Given the description of an element on the screen output the (x, y) to click on. 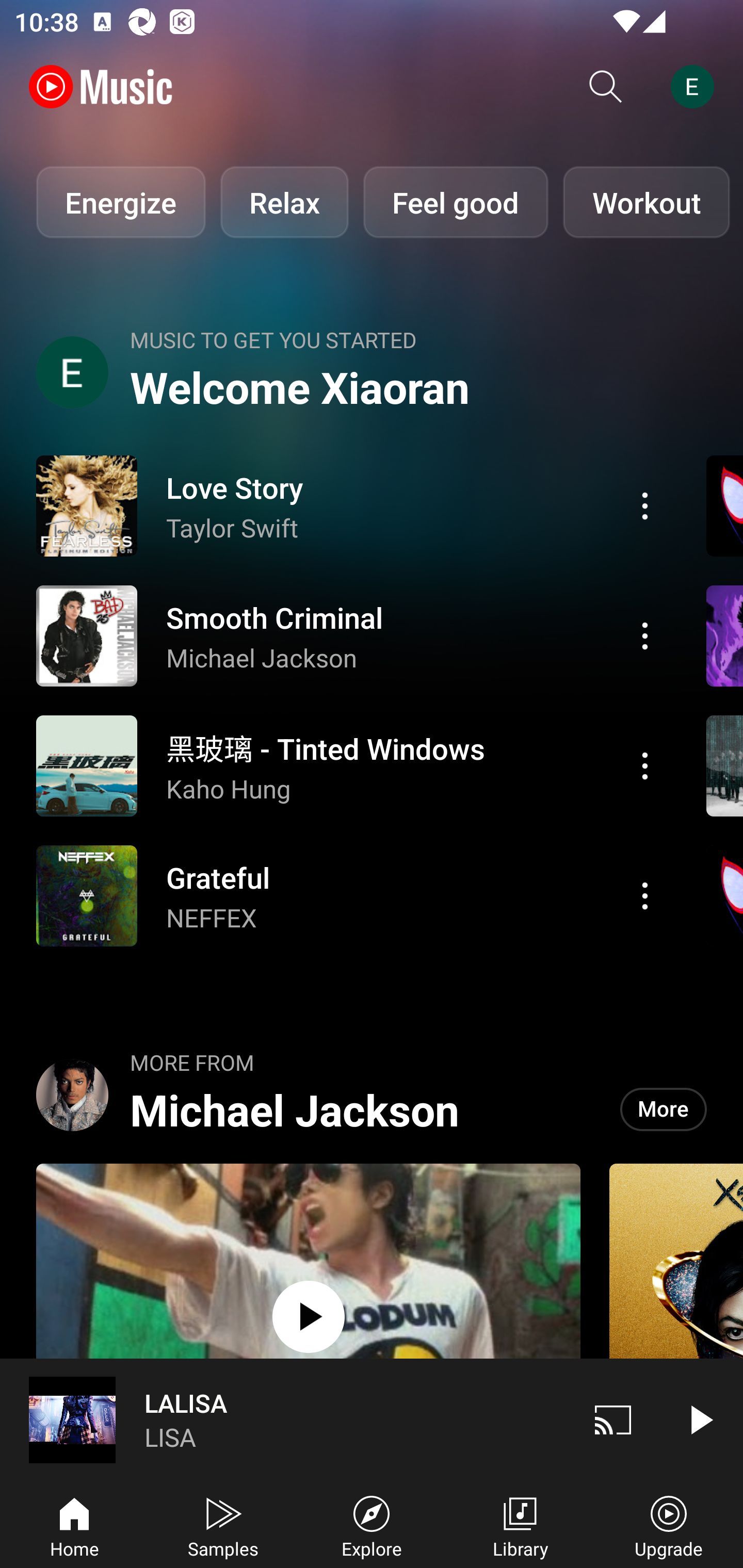
Search (605, 86)
Account (696, 86)
Action menu (349, 505)
Action menu (644, 505)
Action menu (349, 635)
Action menu (644, 635)
Action menu (349, 765)
Action menu (644, 765)
Action menu (349, 896)
Action menu (644, 896)
LALISA LISA (284, 1419)
Cast. Disconnected (612, 1419)
Play video (699, 1419)
Home (74, 1524)
Samples (222, 1524)
Explore (371, 1524)
Library (519, 1524)
Upgrade (668, 1524)
